Given the description of an element on the screen output the (x, y) to click on. 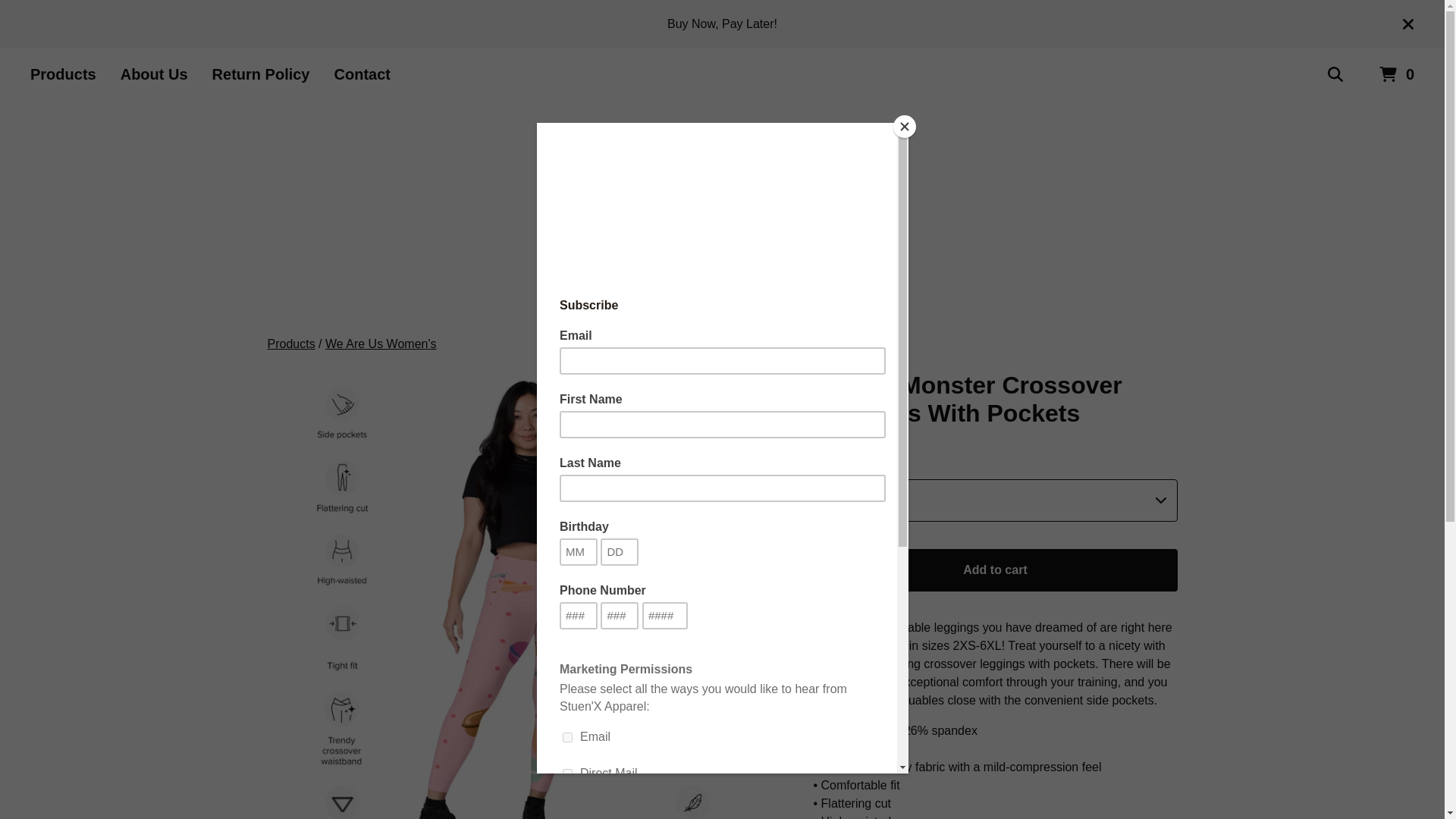
Return Policy (260, 74)
Contact (361, 74)
Close announcement message (1408, 24)
View About Us (154, 74)
Products (290, 343)
0 (1397, 74)
Products (62, 74)
About Us (154, 74)
We Are Us Women's (380, 343)
